Given the description of an element on the screen output the (x, y) to click on. 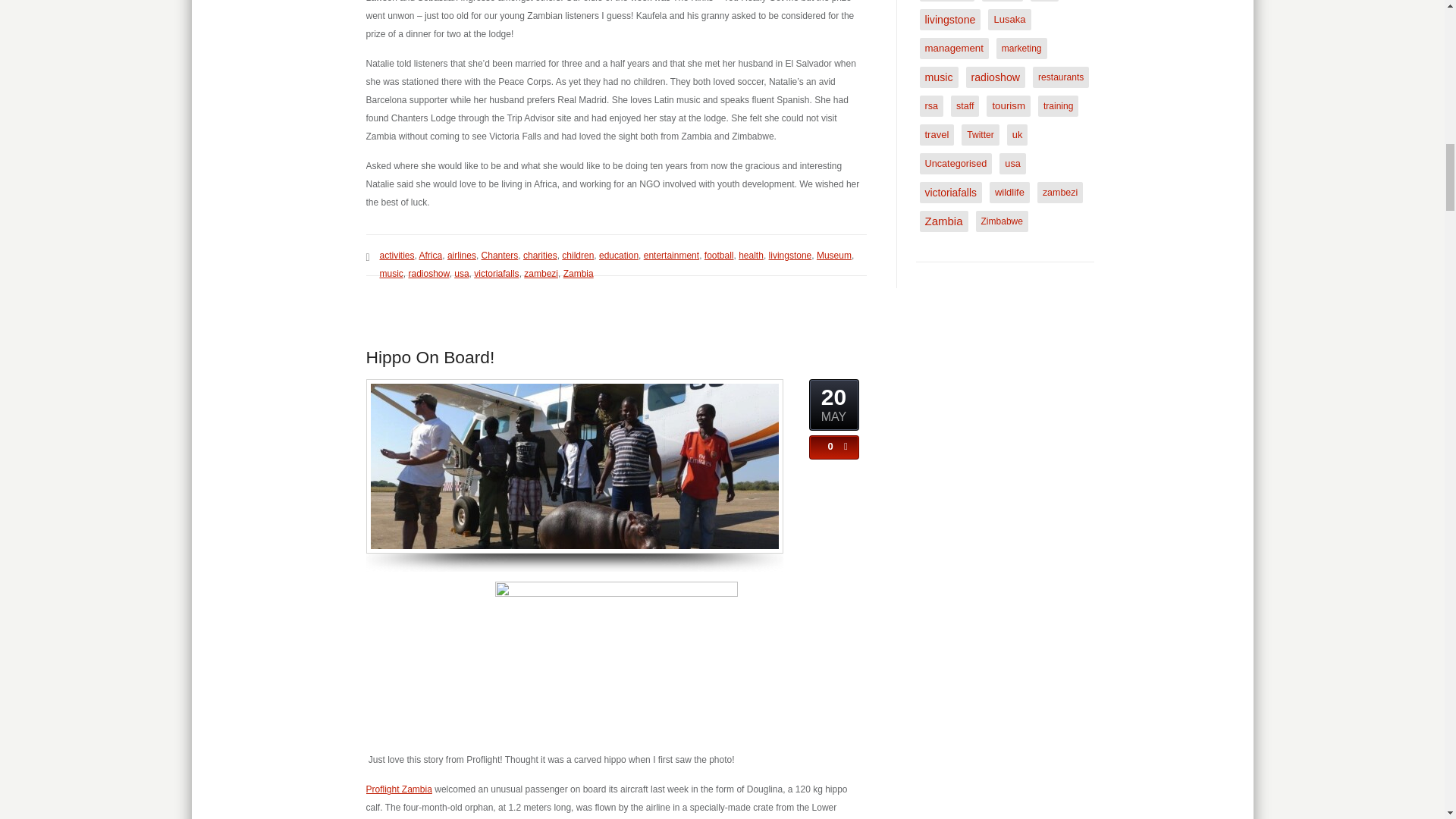
Africa (430, 255)
Hippo On Board! (430, 356)
airlines (461, 255)
Chanters (499, 255)
charities (539, 255)
activities (395, 255)
